Given the description of an element on the screen output the (x, y) to click on. 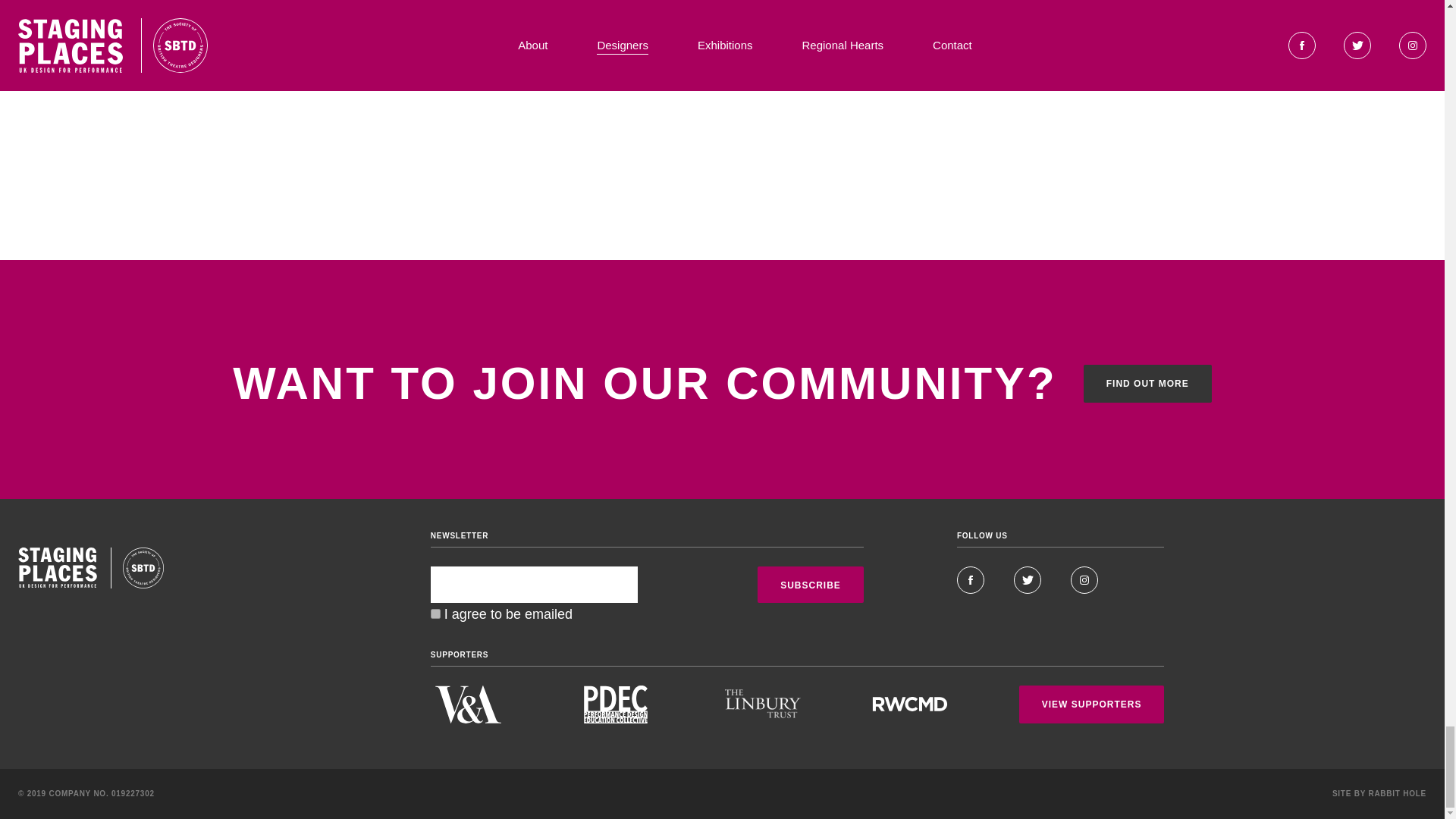
Staging Places (57, 567)
SUBSCRIBE (810, 584)
Facebook (970, 579)
FIND OUT MORE (1147, 383)
1 (435, 614)
Staging Places (142, 567)
